Given the description of an element on the screen output the (x, y) to click on. 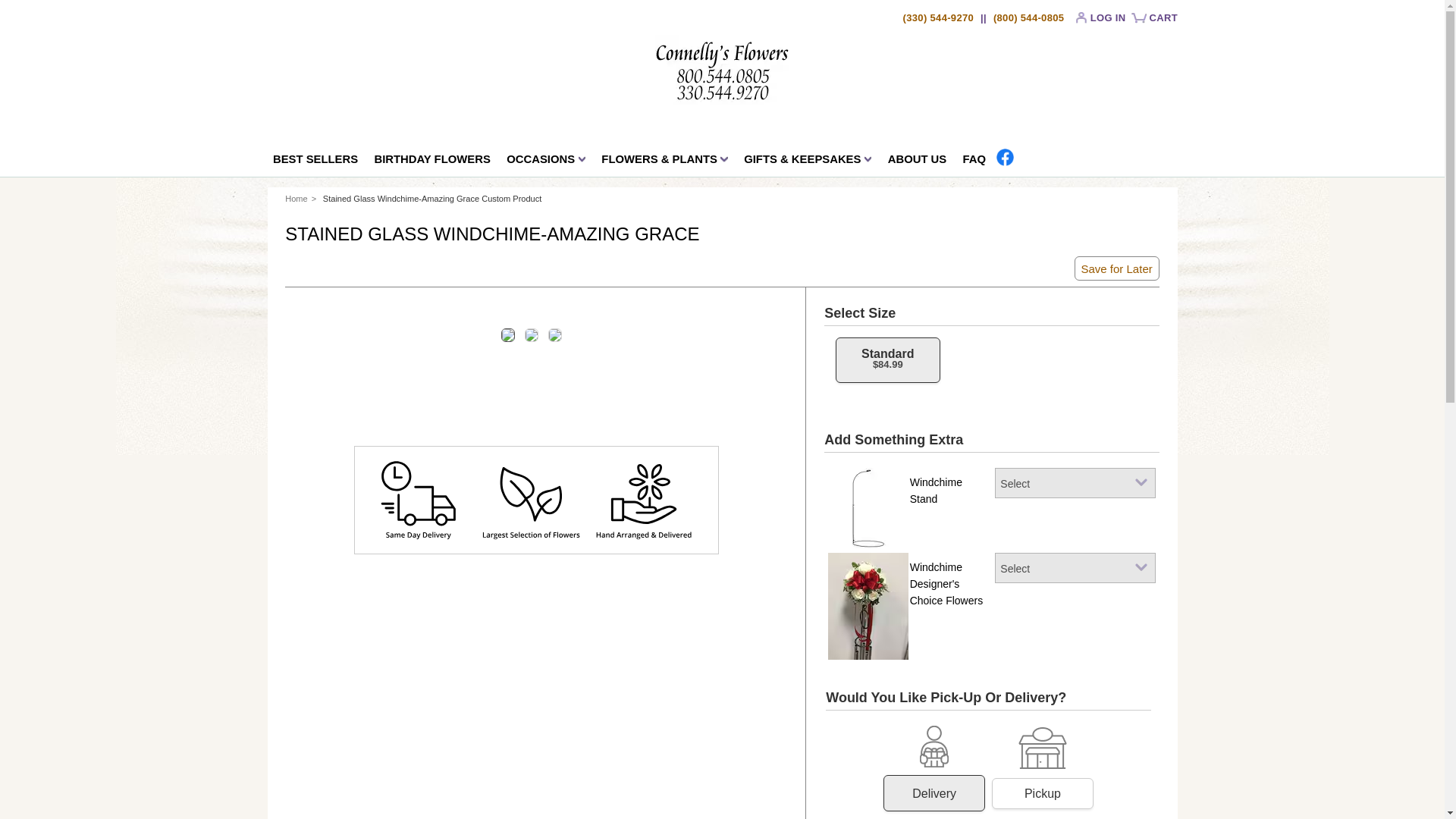
OCCASIONS (545, 161)
LOG IN (1104, 21)
sku9190291 (880, 363)
on (934, 768)
BEST SELLERS (314, 161)
Standard (934, 793)
Standard (1043, 793)
Save for Later (1116, 268)
BIRTHDAY FLOWERS (432, 161)
log In (1104, 21)
